Given the description of an element on the screen output the (x, y) to click on. 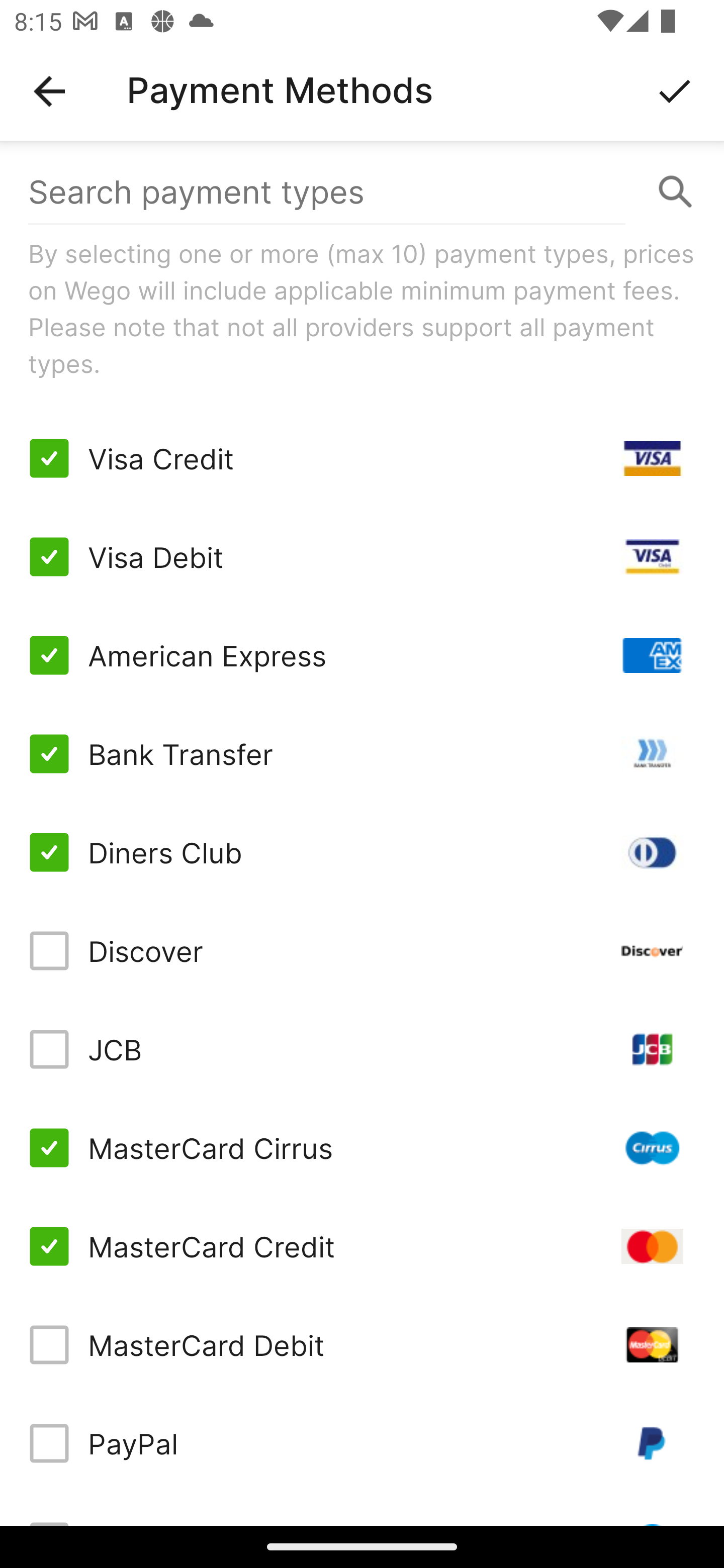
Search payment types  (361, 191)
Visa Credit (362, 458)
Visa Debit (362, 557)
American Express (362, 655)
Bank Transfer (362, 753)
Diners Club (362, 851)
Discover (362, 950)
JCB (362, 1049)
MasterCard Cirrus (362, 1147)
MasterCard Credit (362, 1245)
MasterCard Debit (362, 1344)
PayPal (362, 1442)
